Given the description of an element on the screen output the (x, y) to click on. 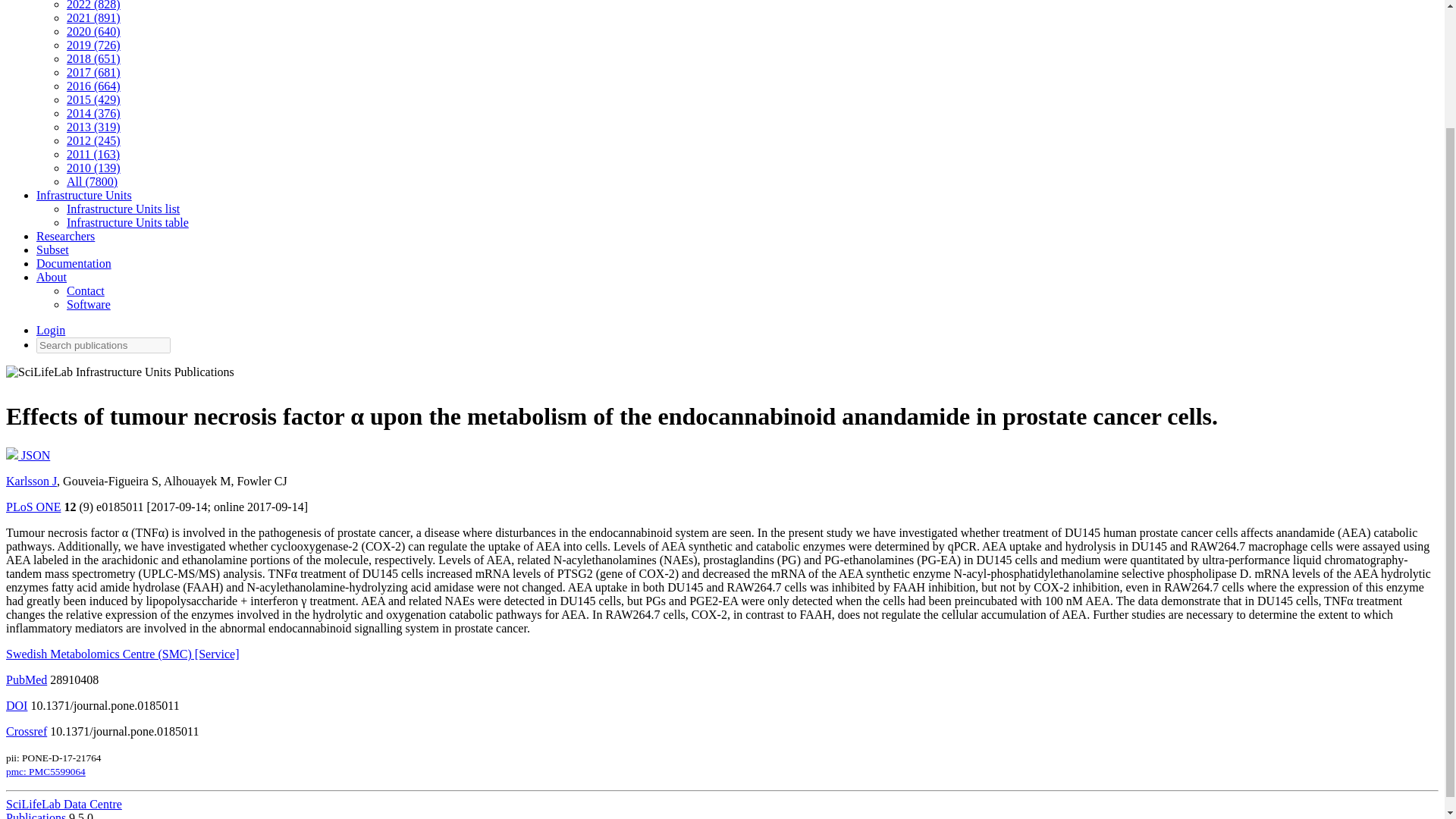
Contact (85, 290)
PLoS ONE (33, 506)
Login (50, 329)
Researchers (65, 236)
Software (88, 304)
About (51, 277)
JSON (27, 454)
Karlsson J (30, 481)
Crossref (25, 730)
Infrastructure Units table (127, 222)
SciLifeLab Infrastructure Units Publications (119, 375)
Documentation (74, 263)
Infrastructure Units list (122, 208)
DOI (16, 705)
PubMed (25, 679)
